Given the description of an element on the screen output the (x, y) to click on. 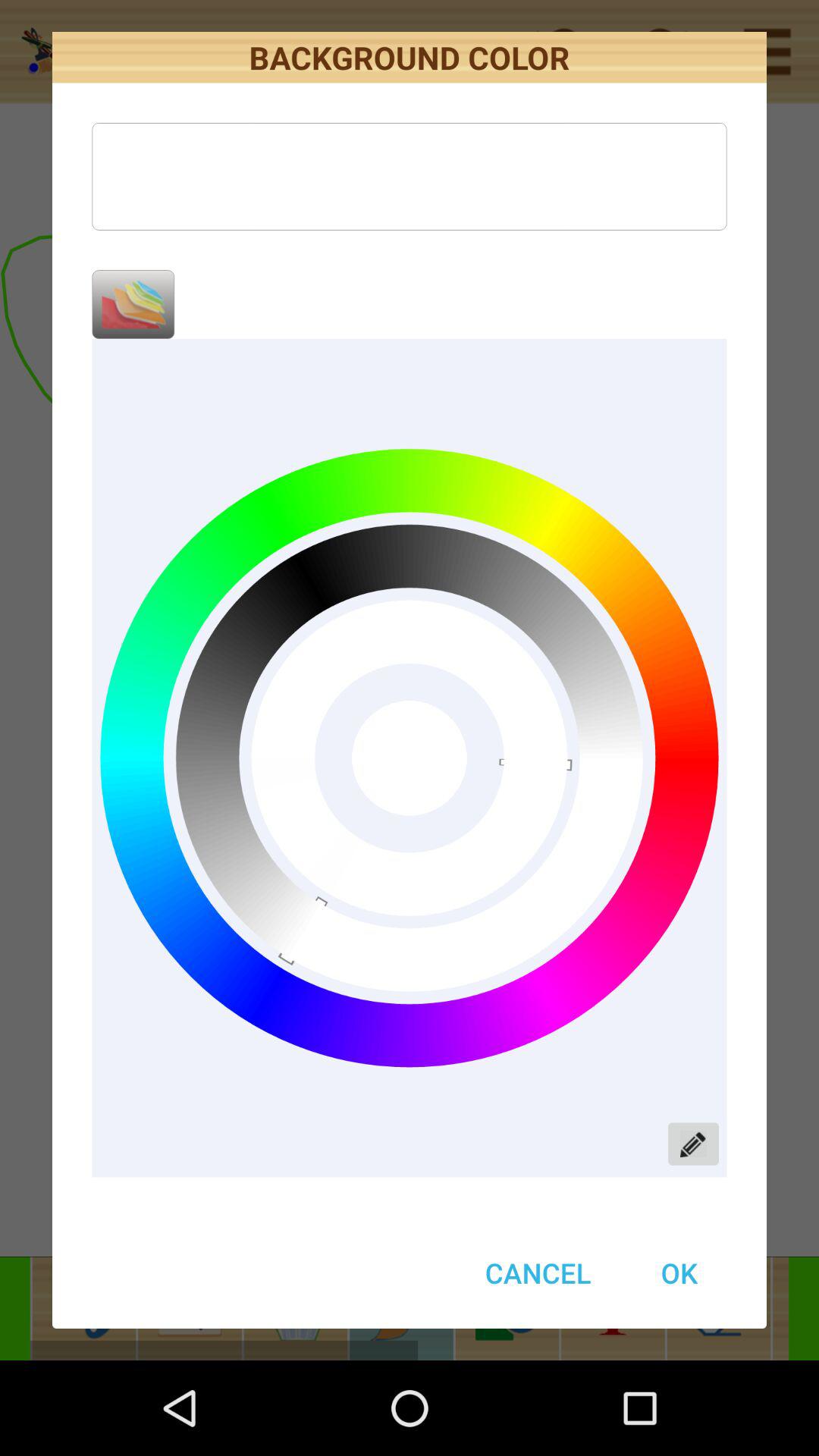
scroll until the ok icon (678, 1272)
